Given the description of an element on the screen output the (x, y) to click on. 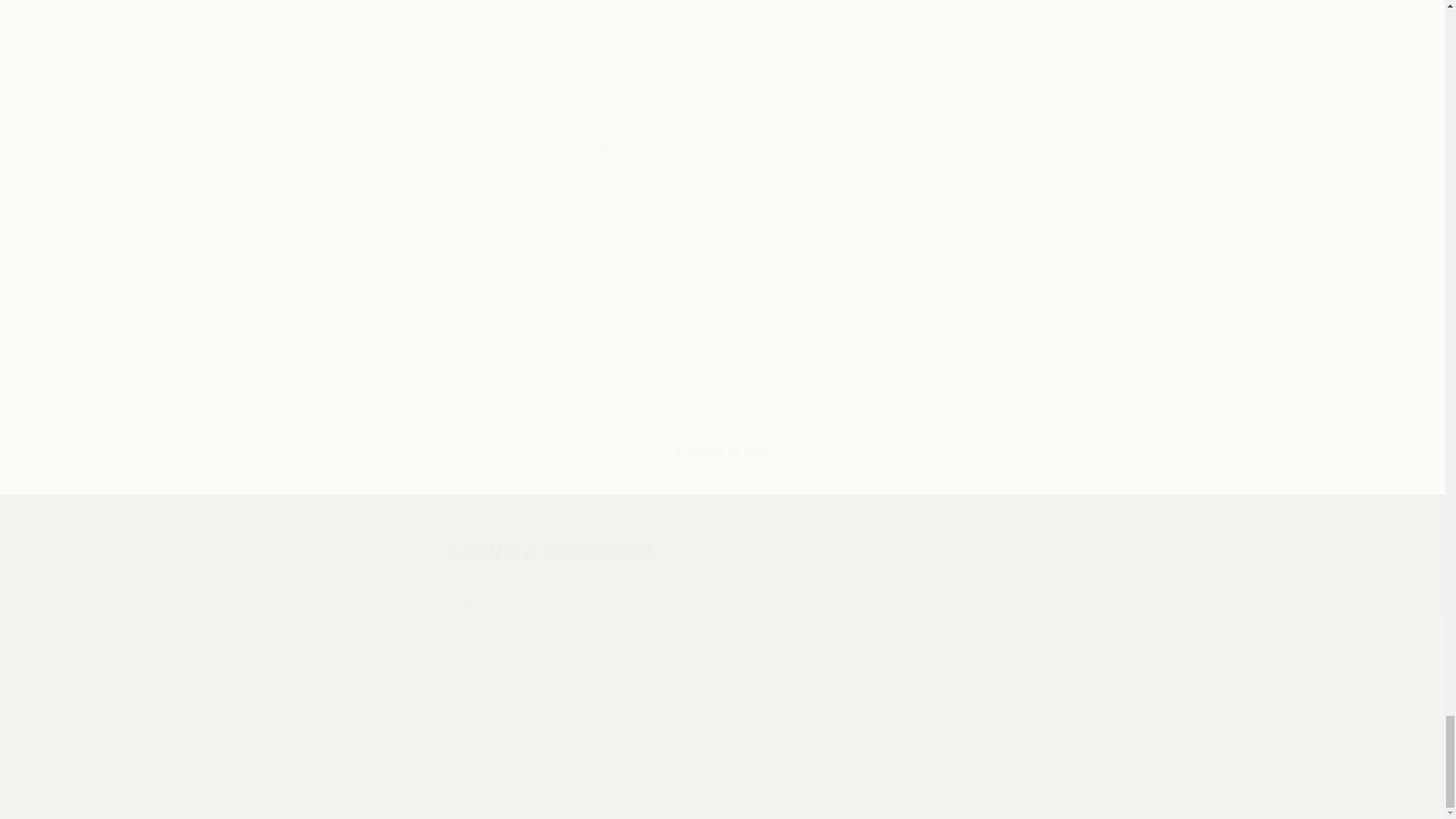
hello my name is patch (705, 69)
Post comment (510, 788)
Goodordering Pin badge (604, 146)
Pins and patches pinterest page (583, 245)
